Given the description of an element on the screen output the (x, y) to click on. 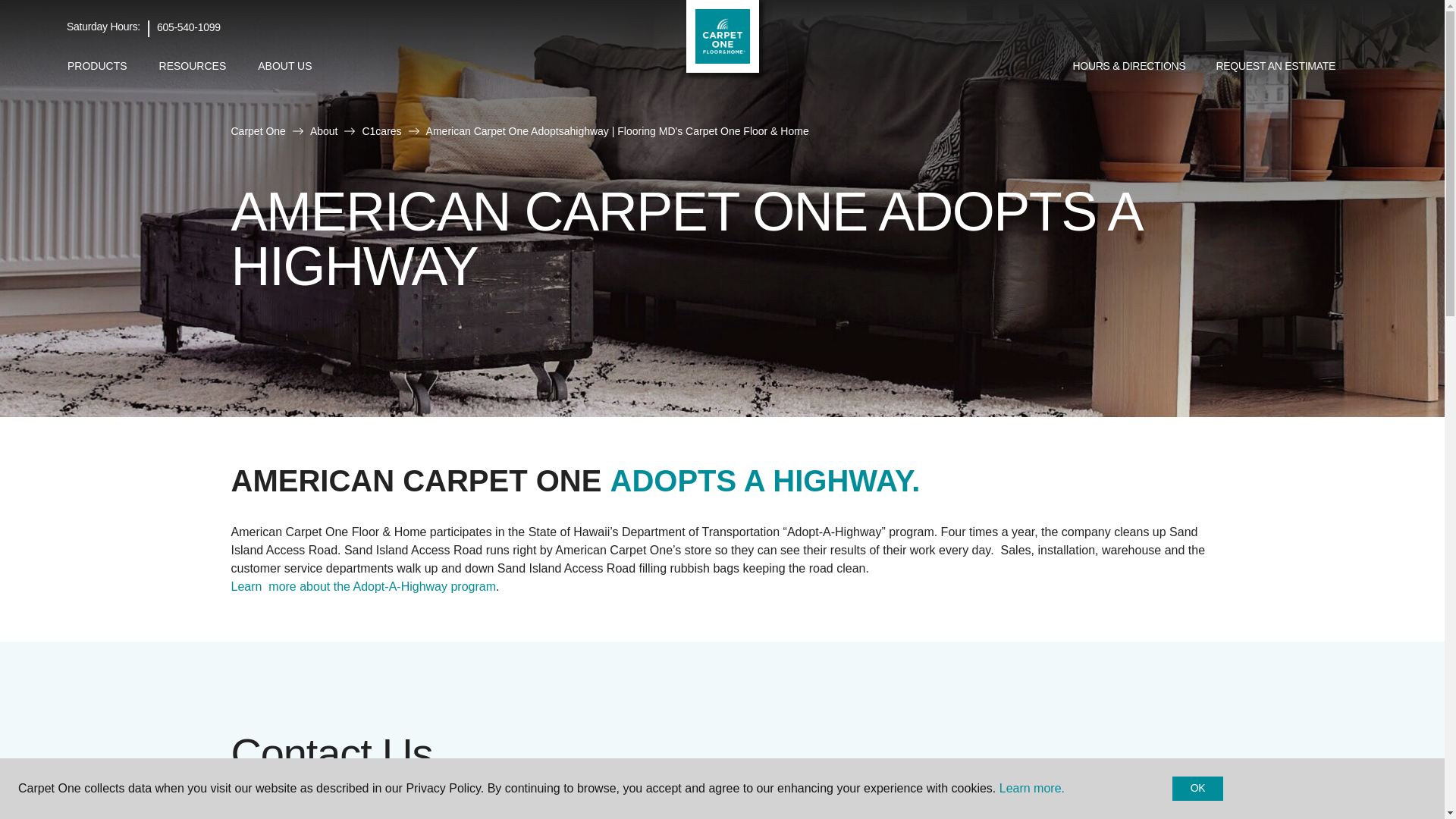
ABOUT US (284, 66)
RESOURCES (193, 66)
605-540-1099 (189, 27)
REQUEST AN ESTIMATE (1276, 66)
PRODUCTS (97, 66)
